Given the description of an element on the screen output the (x, y) to click on. 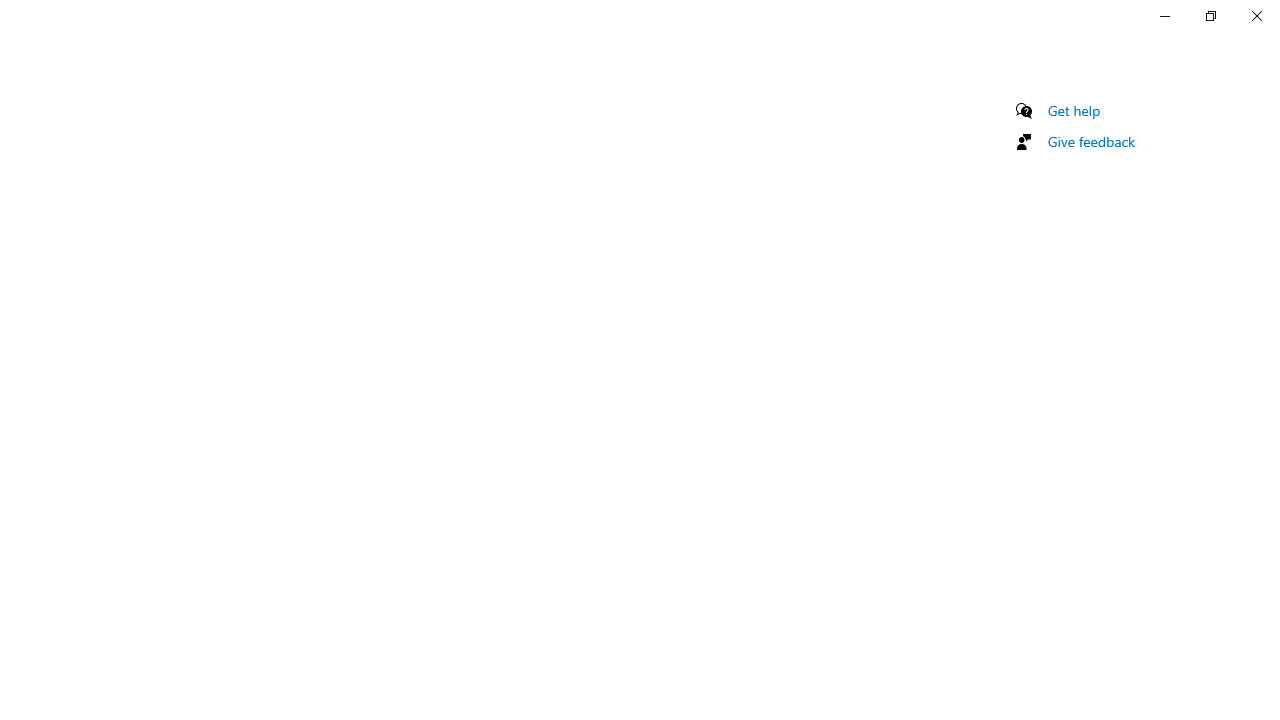
Get help (1074, 110)
Give feedback (1091, 141)
